Given the description of an element on the screen output the (x, y) to click on. 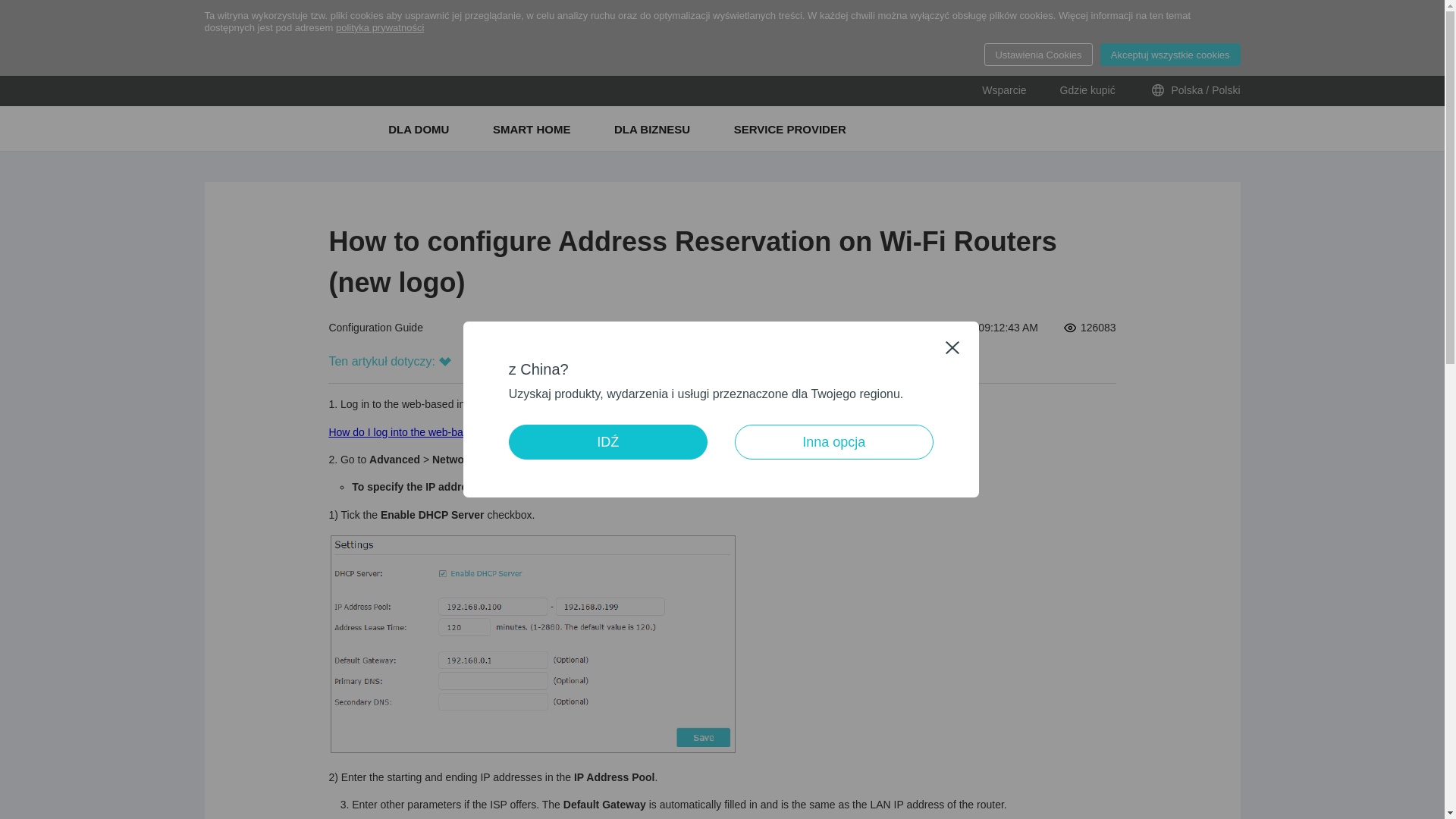
TP-Link, Reliably Smart (244, 128)
Ustawienia Cookies (1038, 54)
Search (1230, 128)
kasa (234, 90)
tapo (319, 90)
DLA DOMU (419, 128)
Wsparcie (1003, 91)
Akceptuj wszystkie cookies (1170, 54)
